Given the description of an element on the screen output the (x, y) to click on. 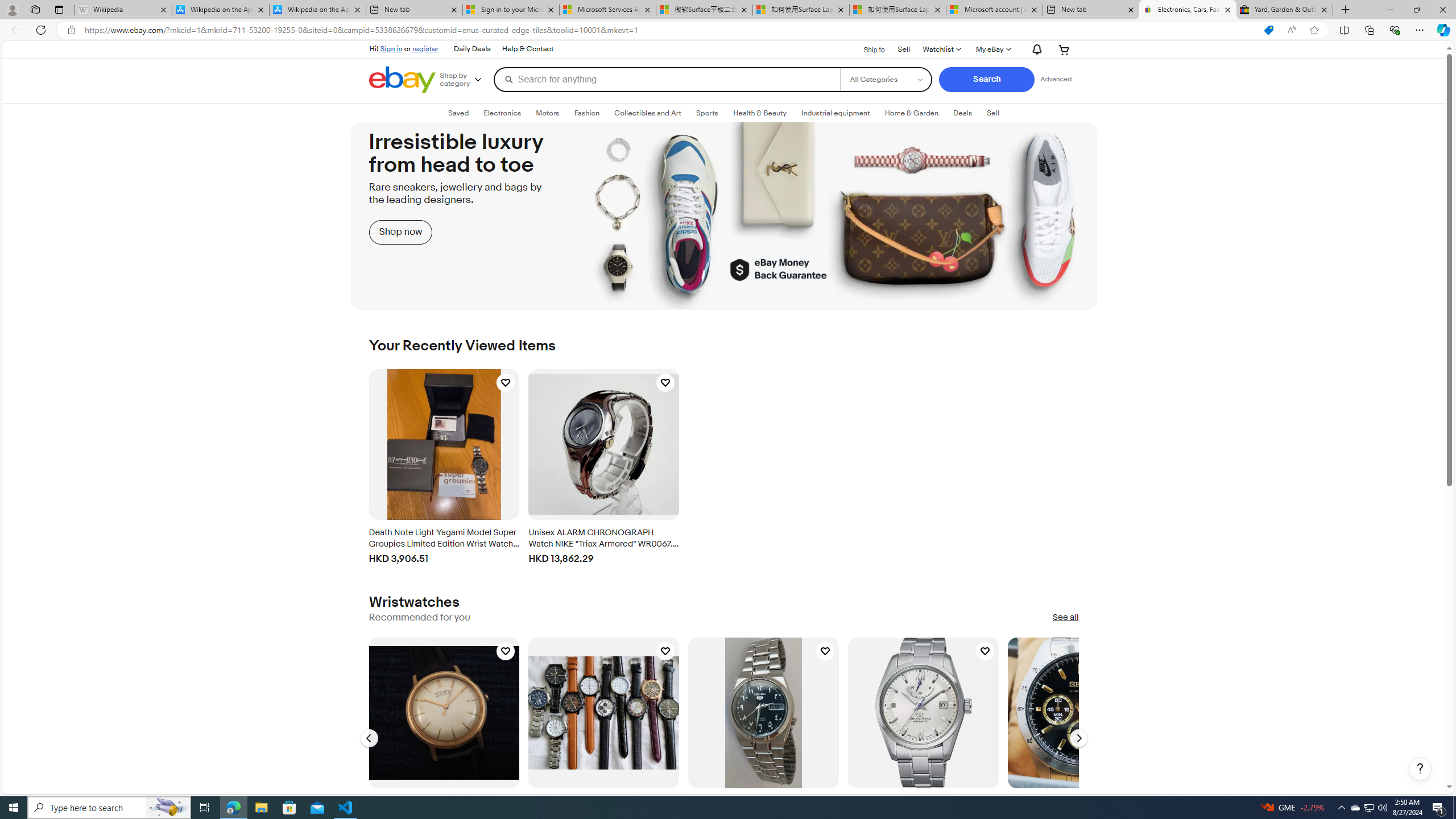
Daily Deals (471, 49)
Health & BeautyExpand: Health & Beauty (759, 112)
Industrial equipmentExpand: Industrial equipment (835, 112)
